Given the description of an element on the screen output the (x, y) to click on. 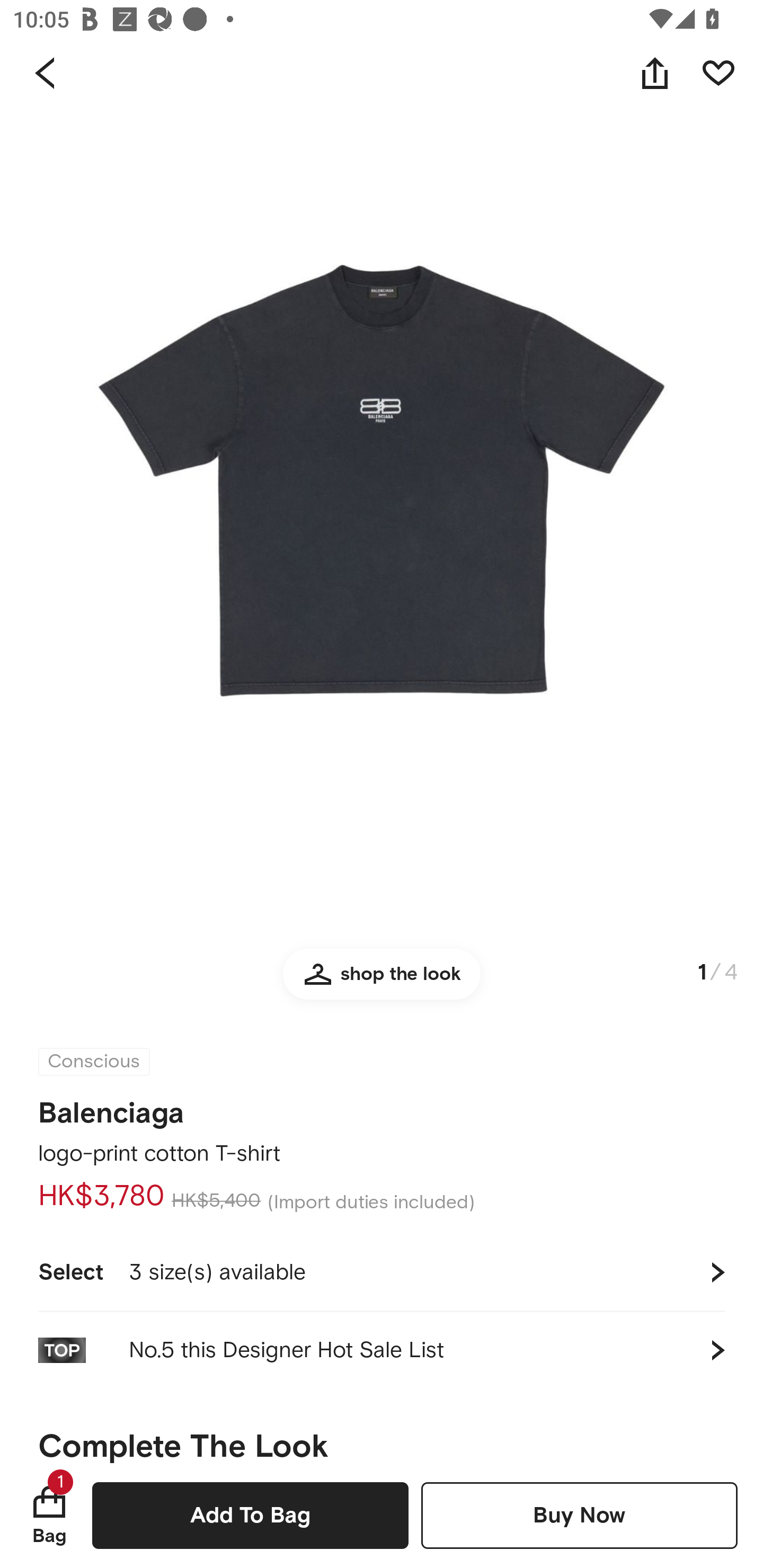
shop the look (381, 982)
Balenciaga (111, 1107)
Select 3 size(s) available (381, 1272)
No.5 this Designer Hot Sale List (381, 1349)
Bag 1 (49, 1515)
Add To Bag (250, 1515)
Buy Now (579, 1515)
